Given the description of an element on the screen output the (x, y) to click on. 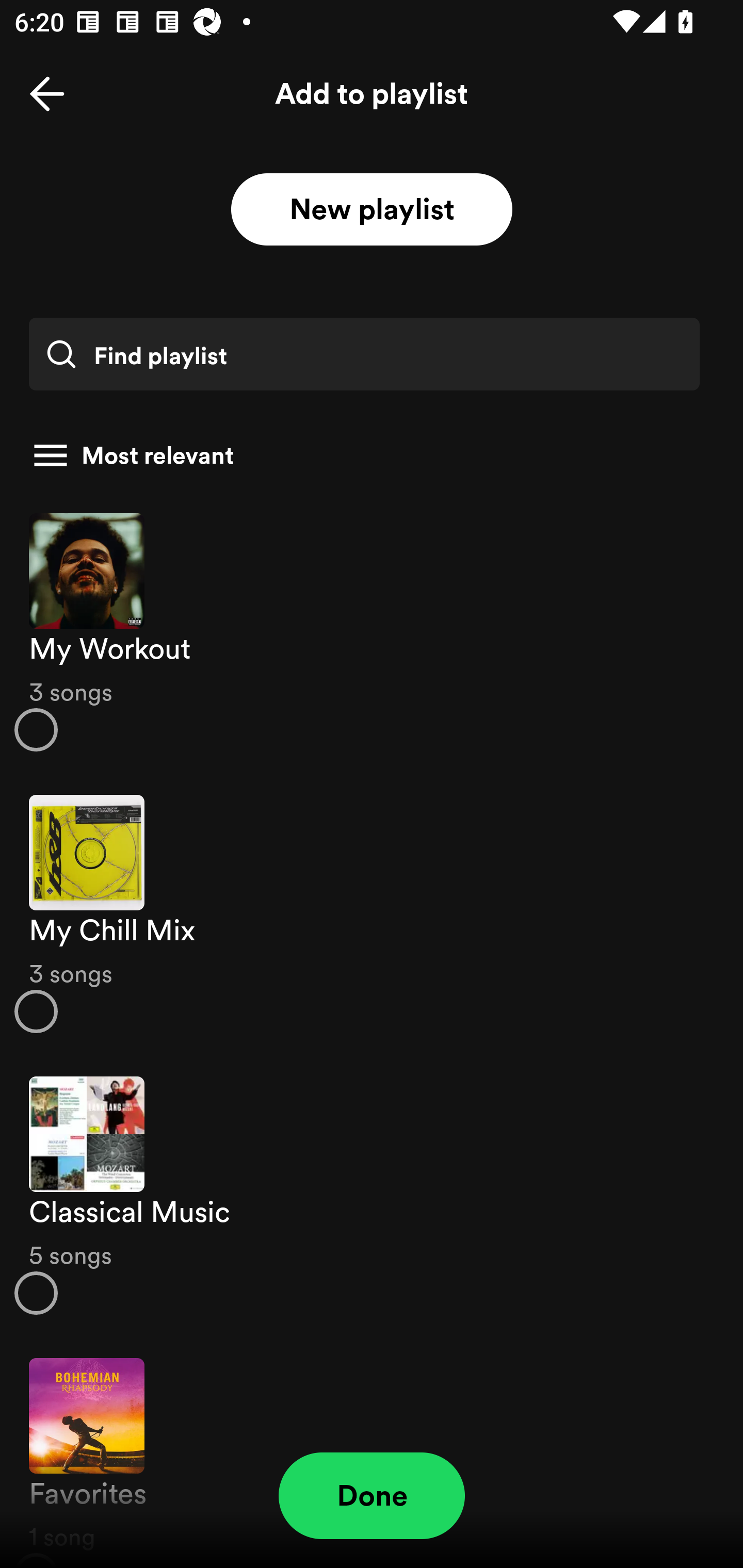
Back (46, 93)
New playlist (371, 210)
Find playlist (363, 354)
Most relevant (363, 455)
My Workout 3 songs (371, 631)
My Chill Mix 3 songs (371, 914)
Classical Music 5 songs (371, 1195)
Favorites 1 song (371, 1451)
Done (371, 1495)
